Given the description of an element on the screen output the (x, y) to click on. 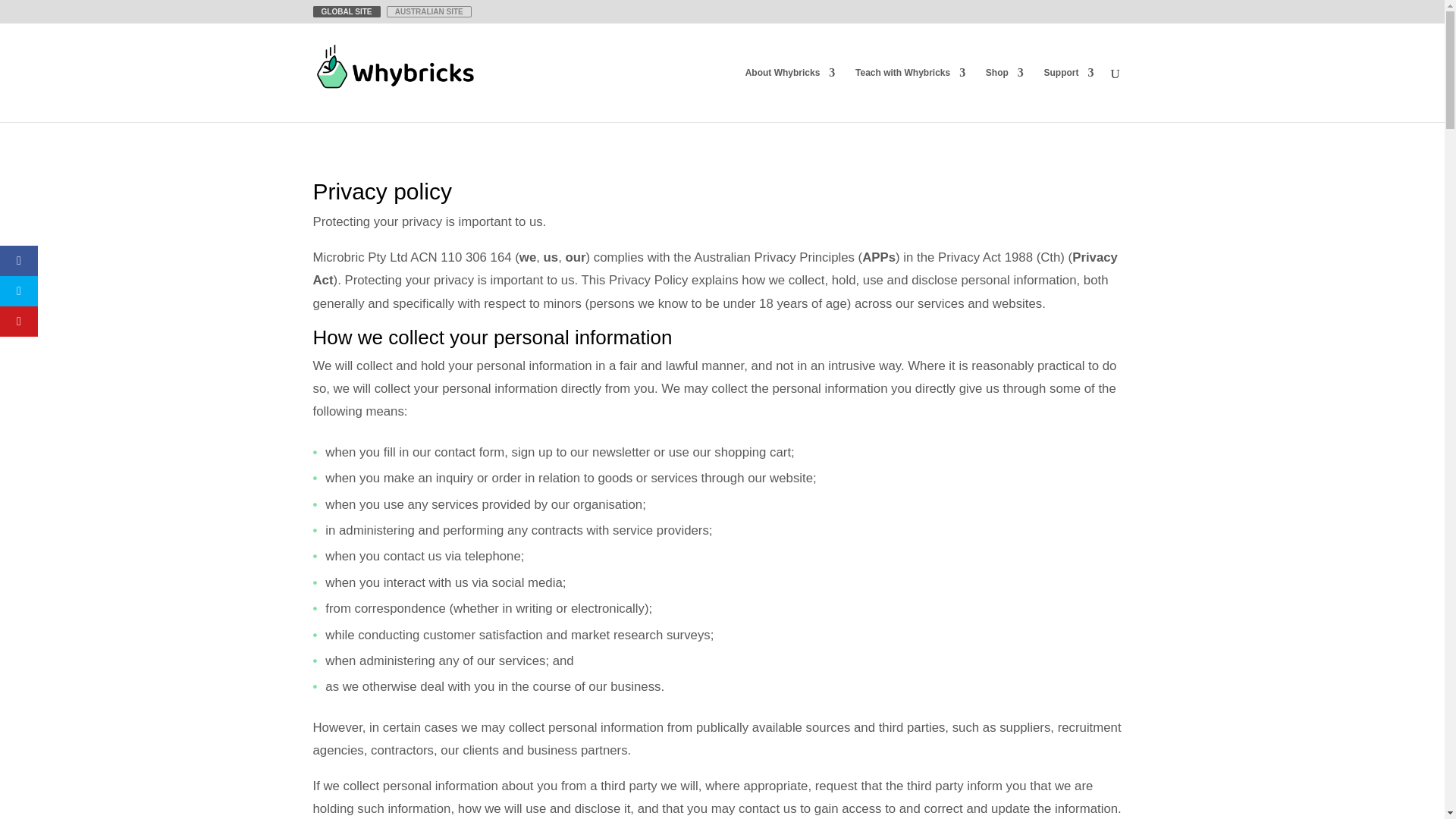
Teach with Whybricks (910, 94)
About Whybricks (790, 94)
Support (1068, 94)
